Given the description of an element on the screen output the (x, y) to click on. 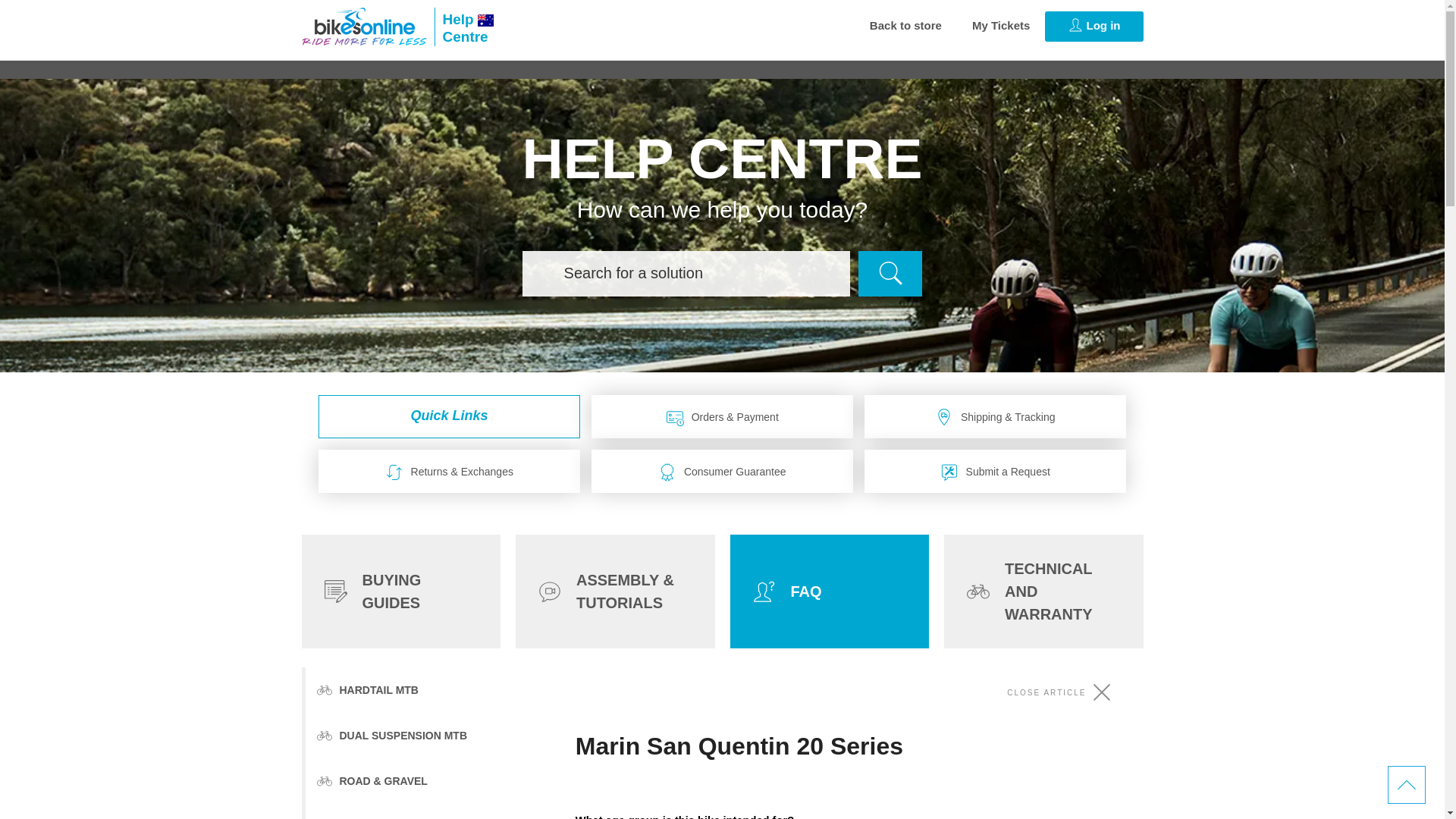
My Tickets (1000, 25)
Bicycles Online Help Centre (463, 26)
FAQ (828, 591)
Back to store (905, 25)
Log in (1093, 26)
BUYING GUIDES (463, 26)
Bicycles Online (400, 591)
TECHNICAL AND WARRANTY (363, 26)
